Given the description of an element on the screen output the (x, y) to click on. 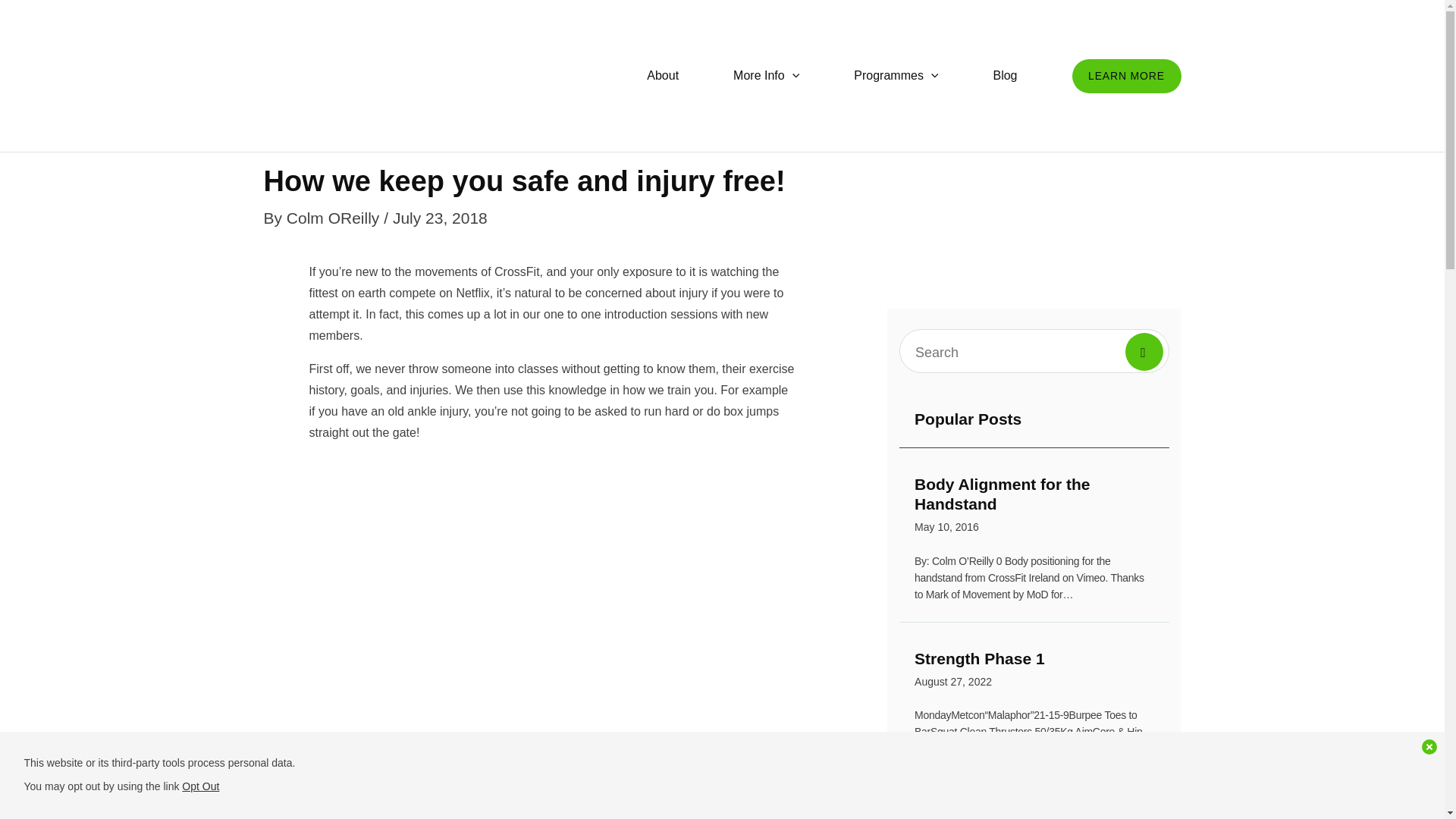
More Info (766, 75)
LEARN MORE (1034, 507)
About (1125, 75)
Colm OReilly (1034, 671)
Blog (663, 75)
View all posts by Colm OReilly (335, 217)
Programmes (1004, 75)
